Given the description of an element on the screen output the (x, y) to click on. 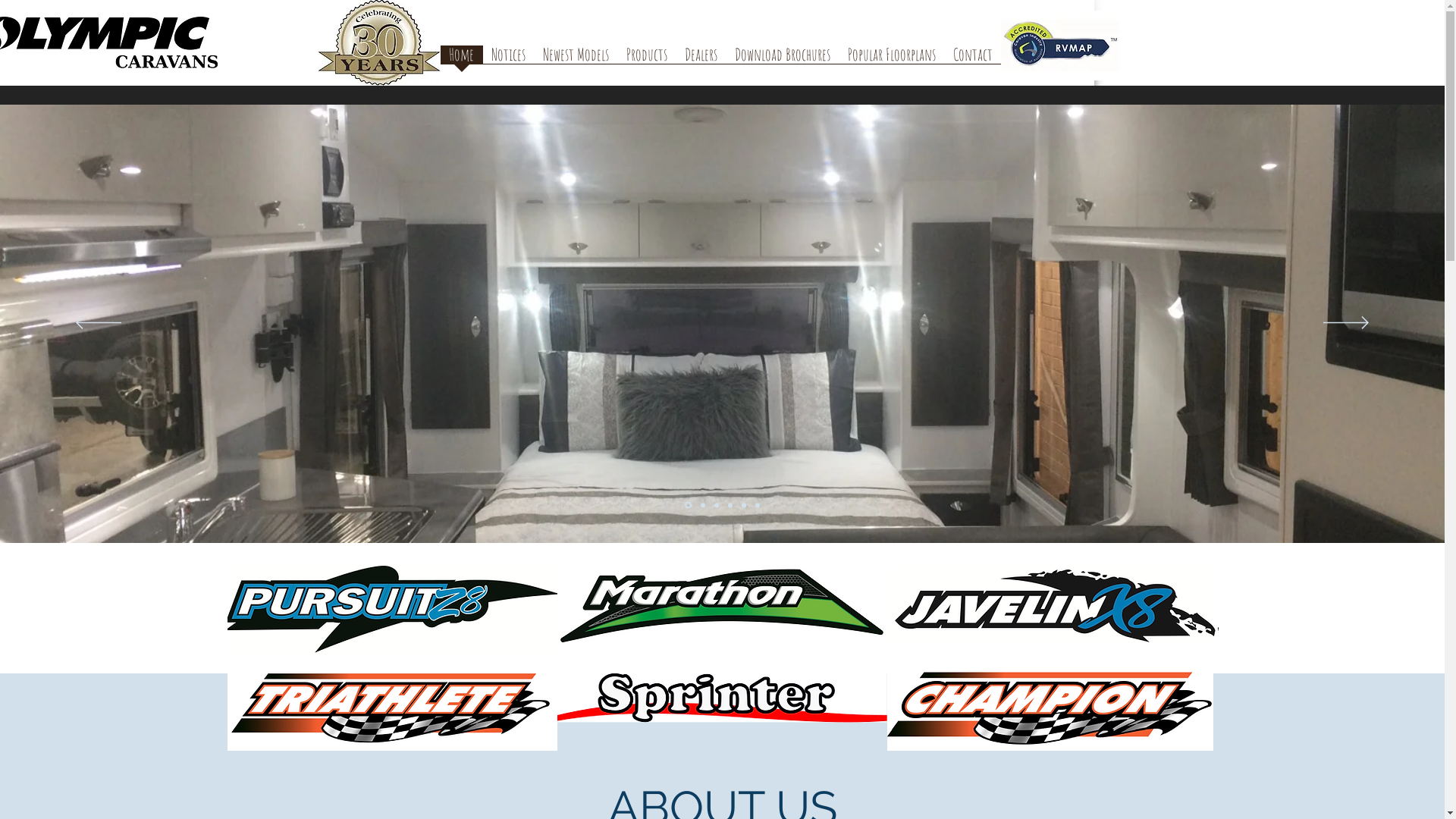
Dealers Element type: text (701, 59)
Download Brochures Element type: text (782, 59)
Notices Element type: text (507, 59)
Newest Models Element type: text (575, 59)
Popular Floorplans Element type: text (891, 59)
Contact Element type: text (972, 59)
Products Element type: text (646, 59)
Home Element type: text (460, 59)
